Given the description of an element on the screen output the (x, y) to click on. 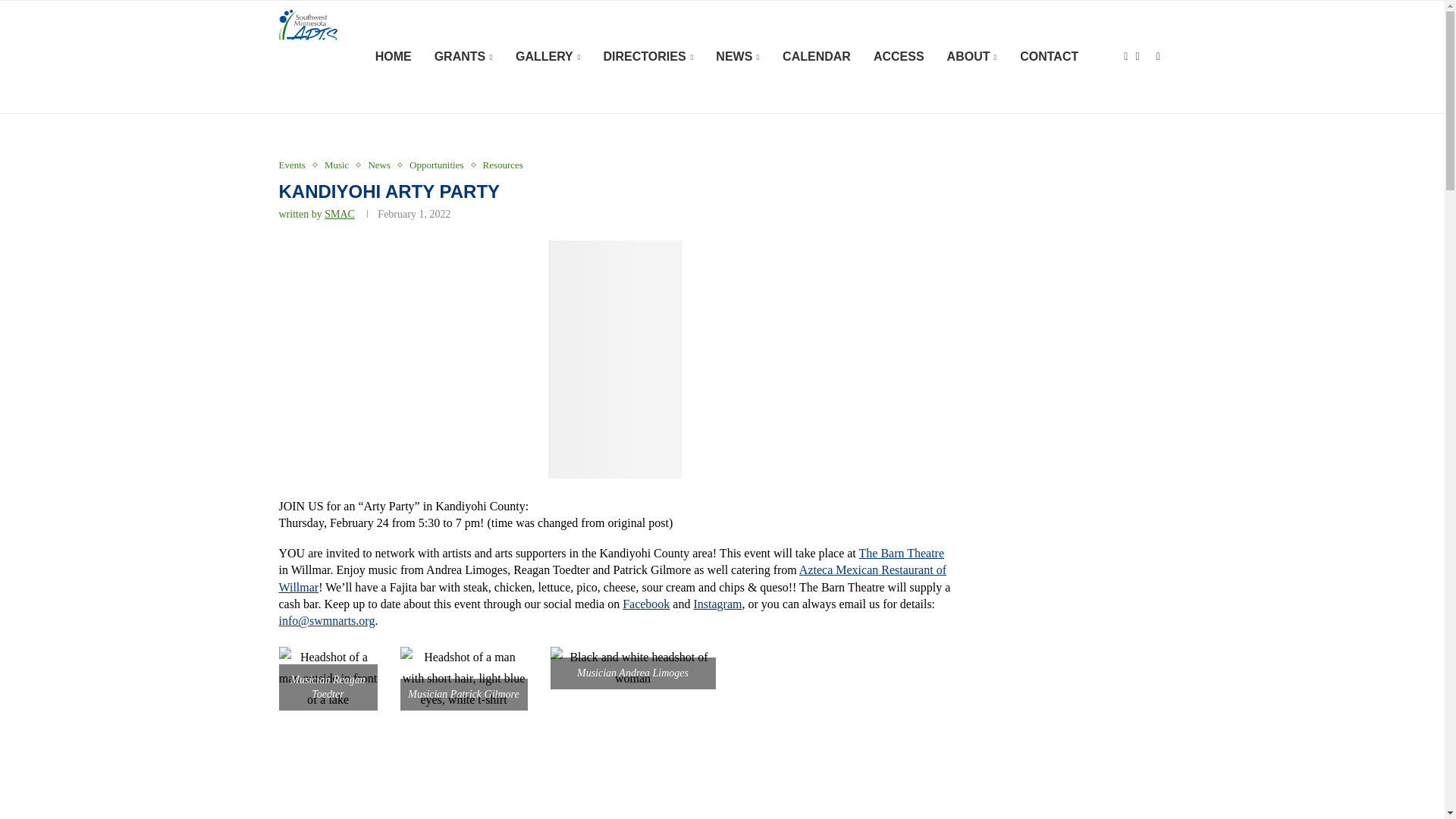
Events (296, 164)
Music (340, 164)
